Given the description of an element on the screen output the (x, y) to click on. 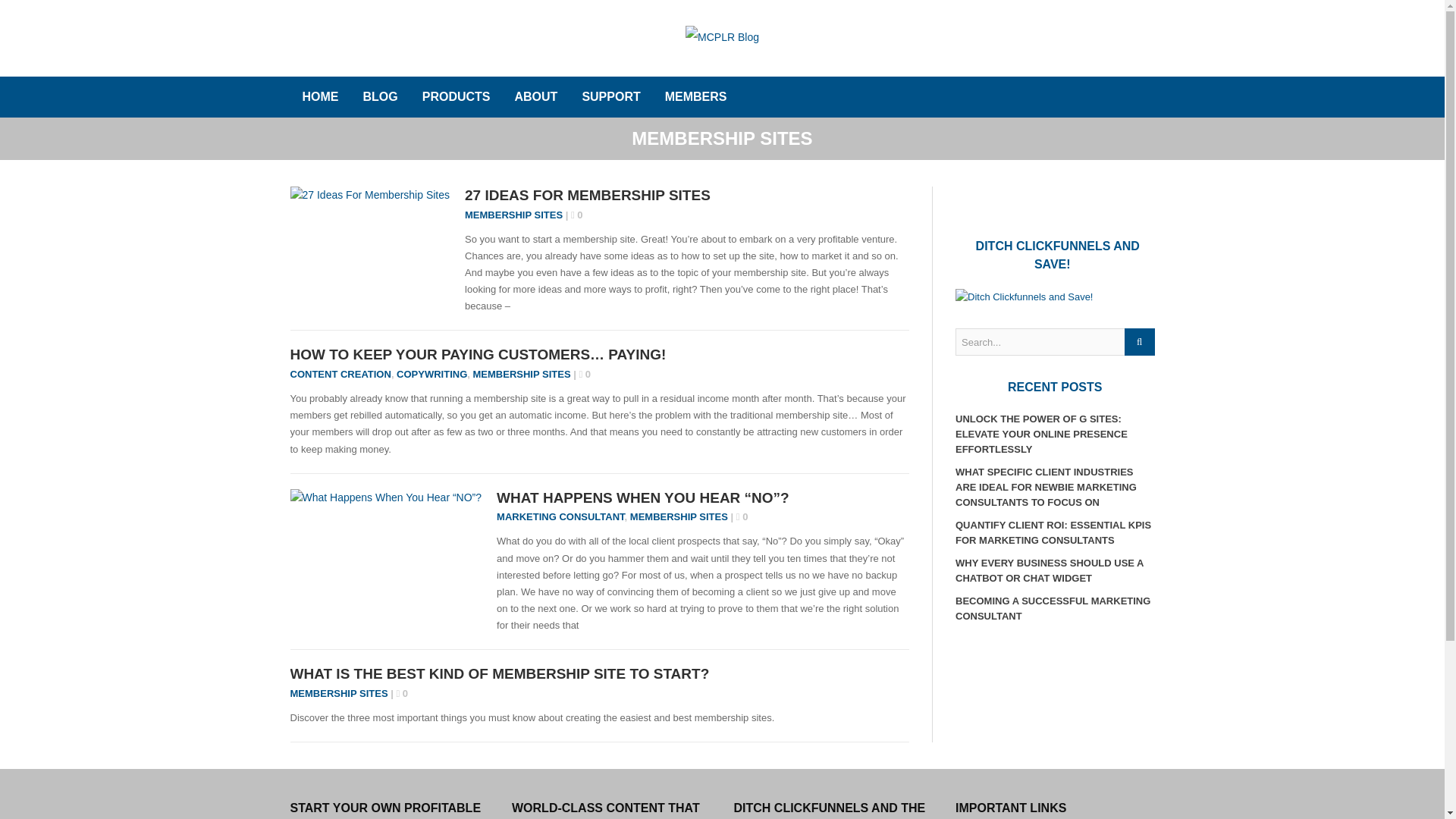
MEMBERSHIP SITES (513, 214)
MARKETING CONSULTANT (560, 516)
WHAT IS THE BEST KIND OF MEMBERSHIP SITE TO START? (499, 673)
27 IDEAS FOR MEMBERSHIP SITES (587, 195)
PRODUCTS (456, 96)
0 (584, 374)
COPYWRITING (431, 374)
SUPPORT (610, 96)
WHY EVERY BUSINESS SHOULD USE A CHATBOT OR CHAT WIDGET (1048, 570)
0 (401, 693)
MEMBERSHIP SITES (679, 516)
0 (576, 214)
BLOG (379, 96)
